Given the description of an element on the screen output the (x, y) to click on. 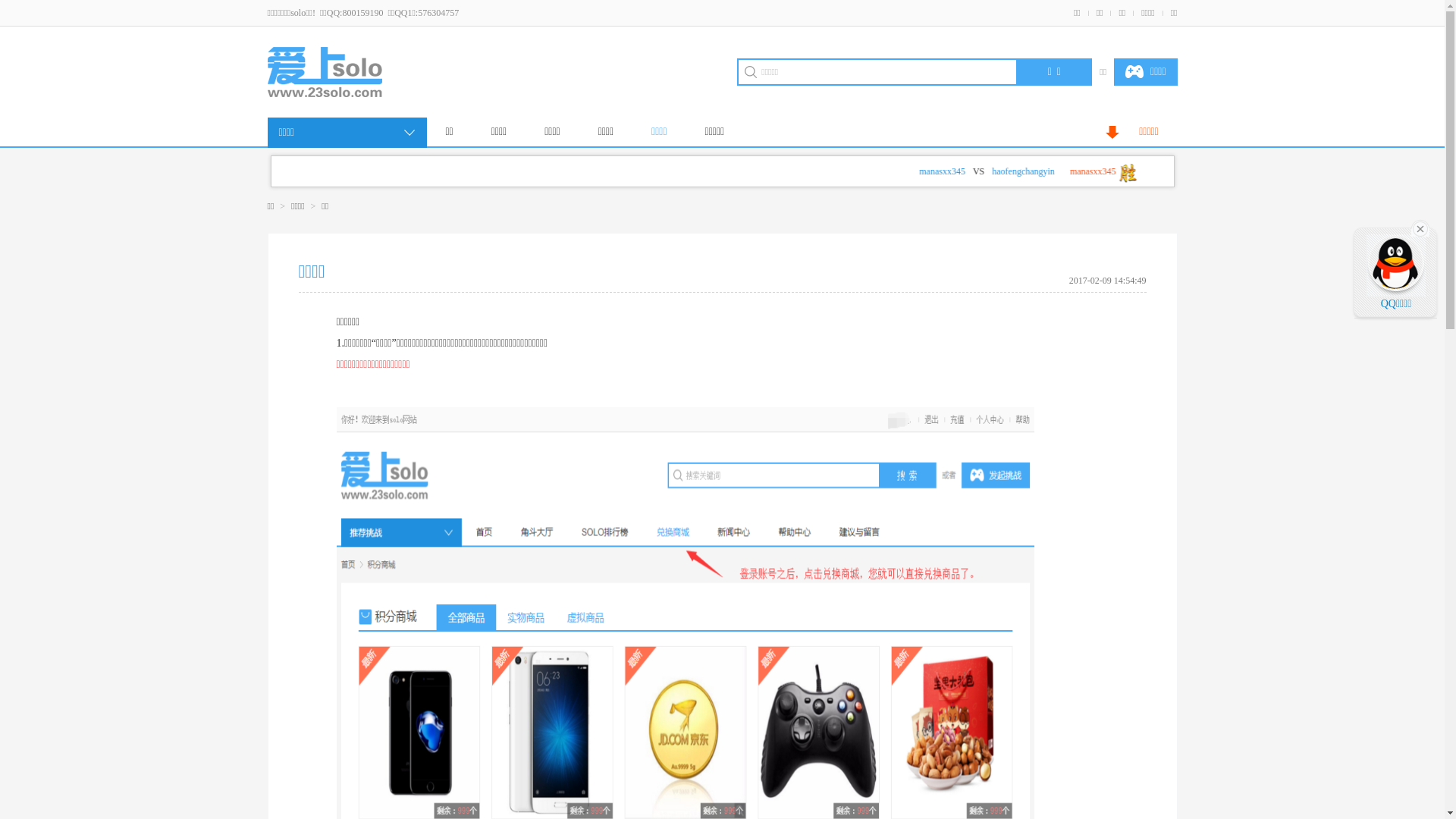
  Element type: text (1420, 227)
